Given the description of an element on the screen output the (x, y) to click on. 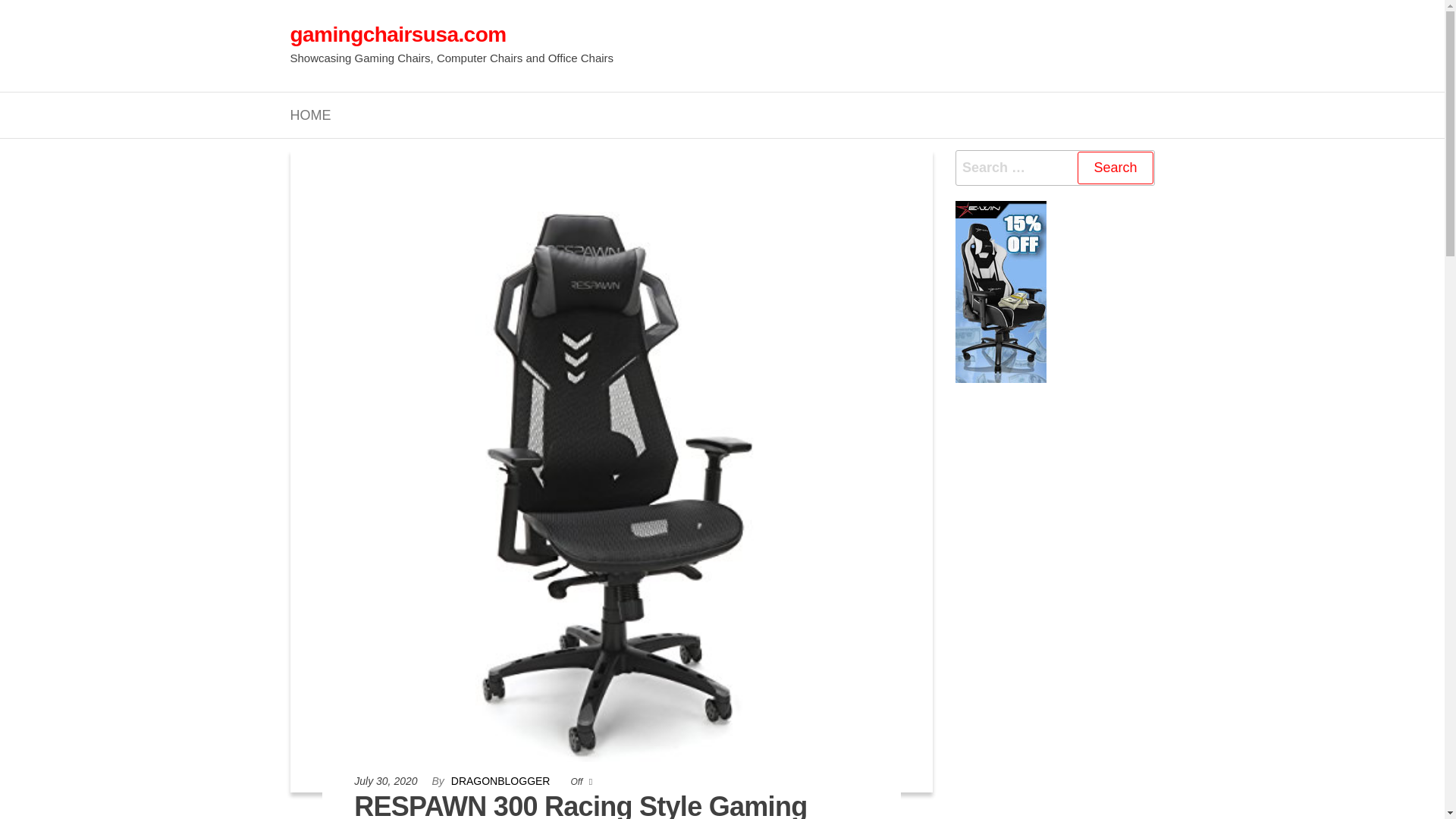
Search (1115, 167)
Home (310, 115)
gamingchairsusa.com (397, 33)
HOME (310, 115)
Search (1115, 167)
DRAGONBLOGGER (502, 780)
Search (1115, 167)
